Given the description of an element on the screen output the (x, y) to click on. 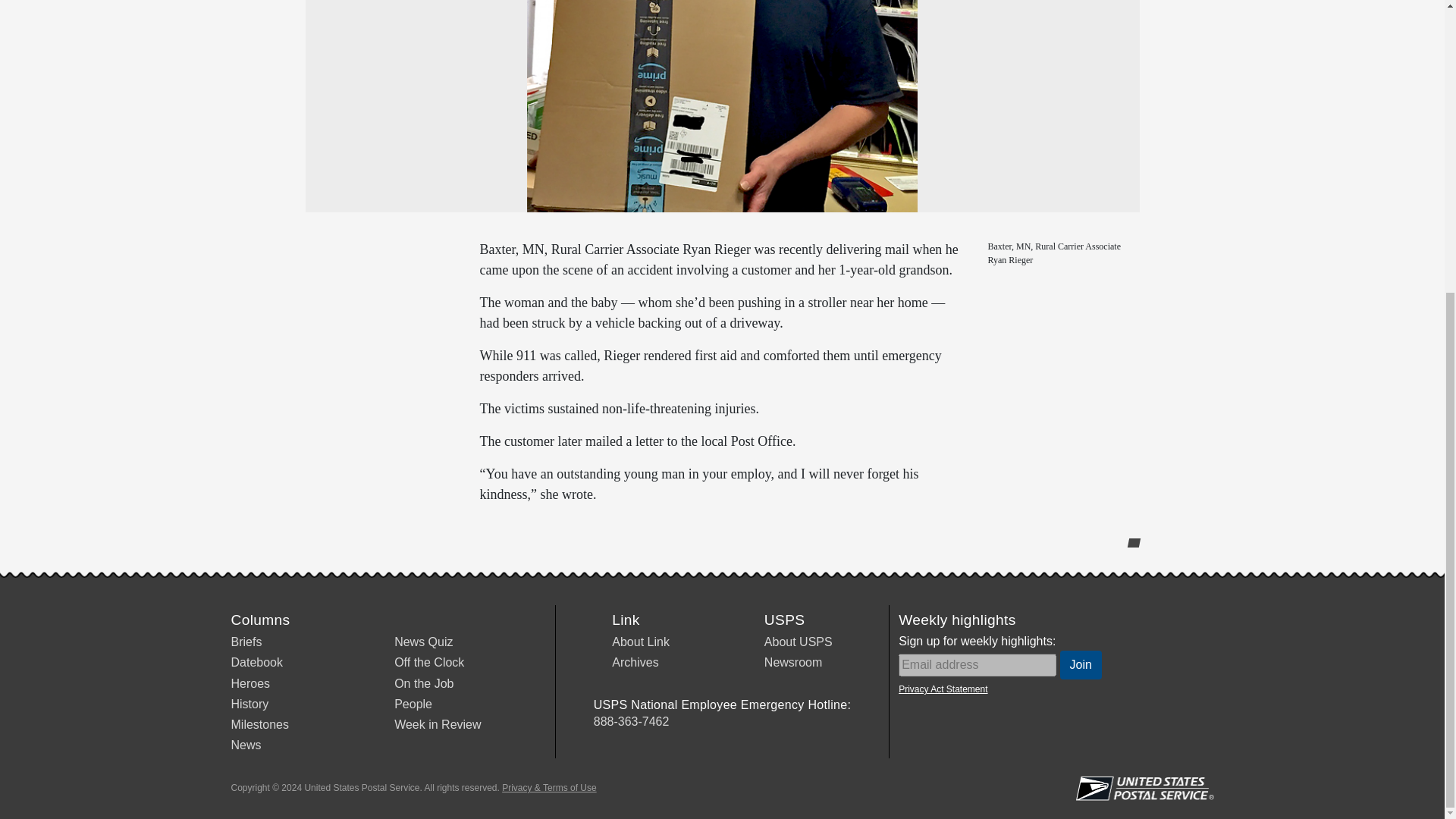
Milestones (259, 724)
On the Job (423, 683)
Off the Clock (429, 662)
History (248, 703)
About Link (640, 641)
Archives (634, 662)
About USPS (798, 641)
People (413, 703)
Briefs (246, 641)
Newsroom (793, 662)
